Given the description of an element on the screen output the (x, y) to click on. 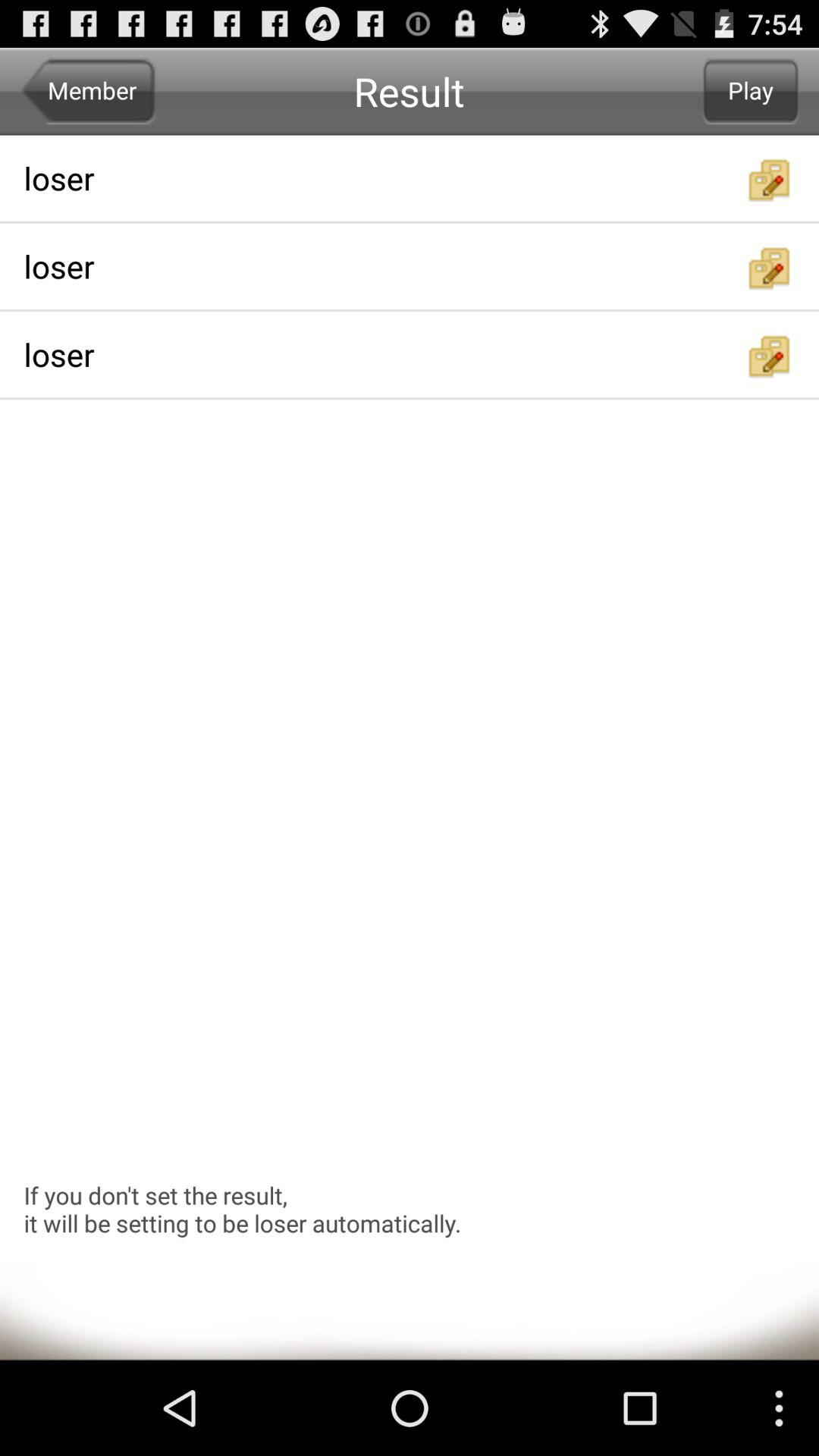
flip until play button (750, 91)
